Given the description of an element on the screen output the (x, y) to click on. 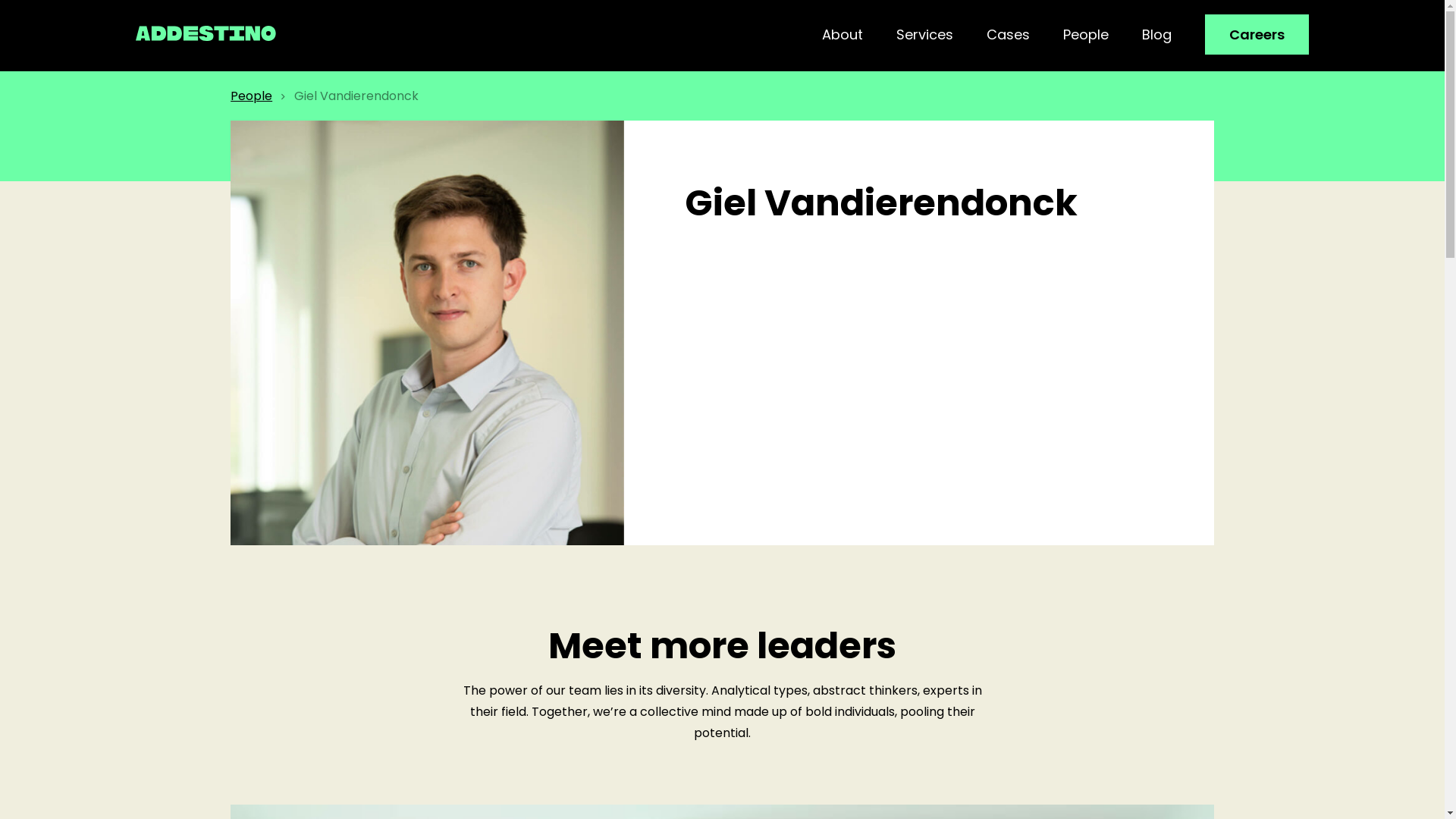
People Element type: text (1085, 35)
About Element type: text (842, 35)
Cases Element type: text (1007, 35)
Accept All Element type: text (1391, 792)
Careers Element type: text (1256, 34)
Cookie Settings Element type: text (1302, 792)
Services Element type: text (924, 35)
Blog Element type: text (1156, 35)
People Element type: text (251, 95)
